Given the description of an element on the screen output the (x, y) to click on. 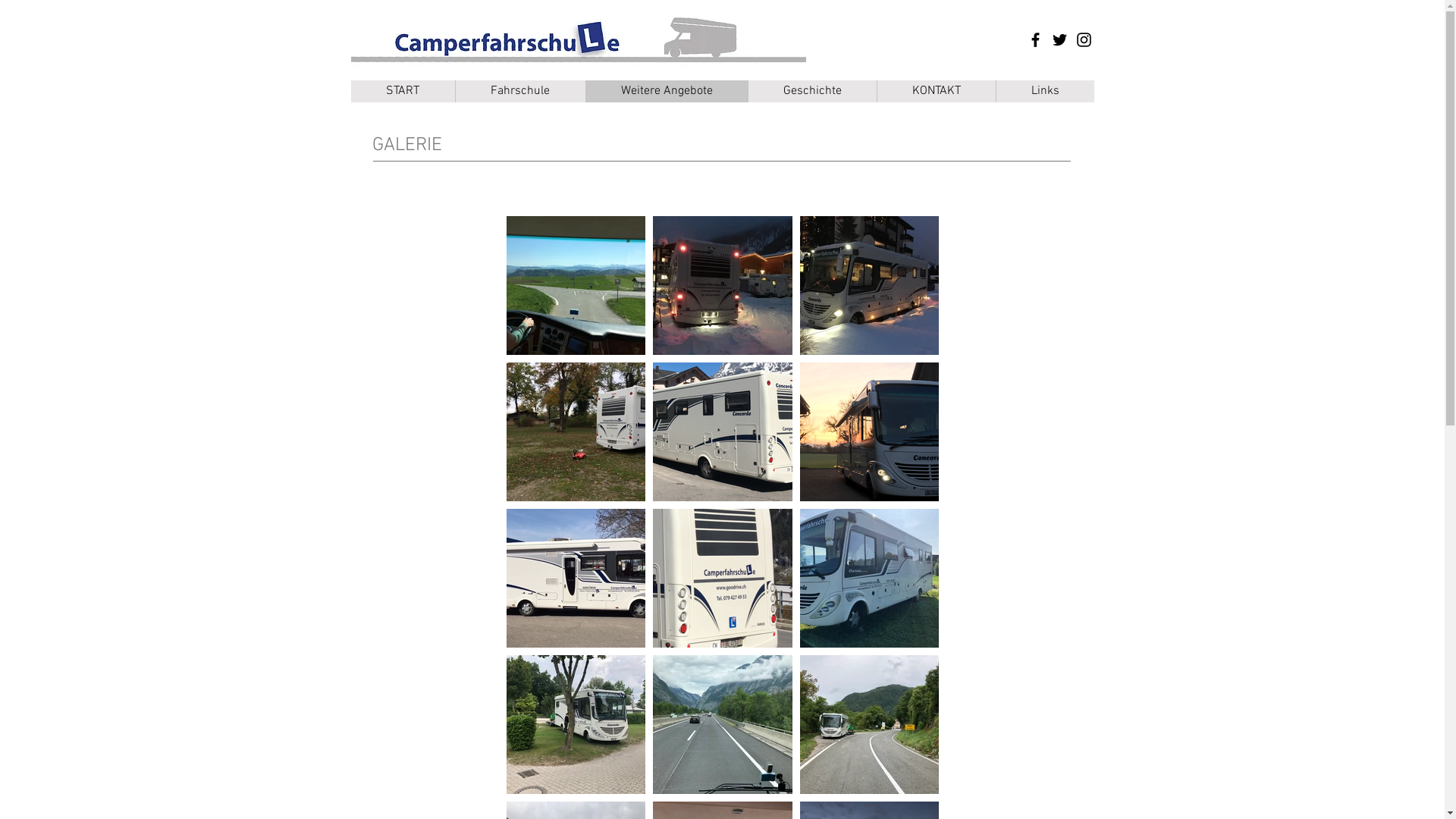
Weitere Angebote Element type: text (666, 91)
Camperfahrschule Element type: text (468, 45)
START Element type: text (402, 91)
Fahrschule Element type: text (520, 91)
IMG_0495.jpg Element type: hover (577, 39)
Links Element type: text (1043, 91)
KONTAKT Element type: text (935, 91)
Geschichte Element type: text (811, 91)
